Given the description of an element on the screen output the (x, y) to click on. 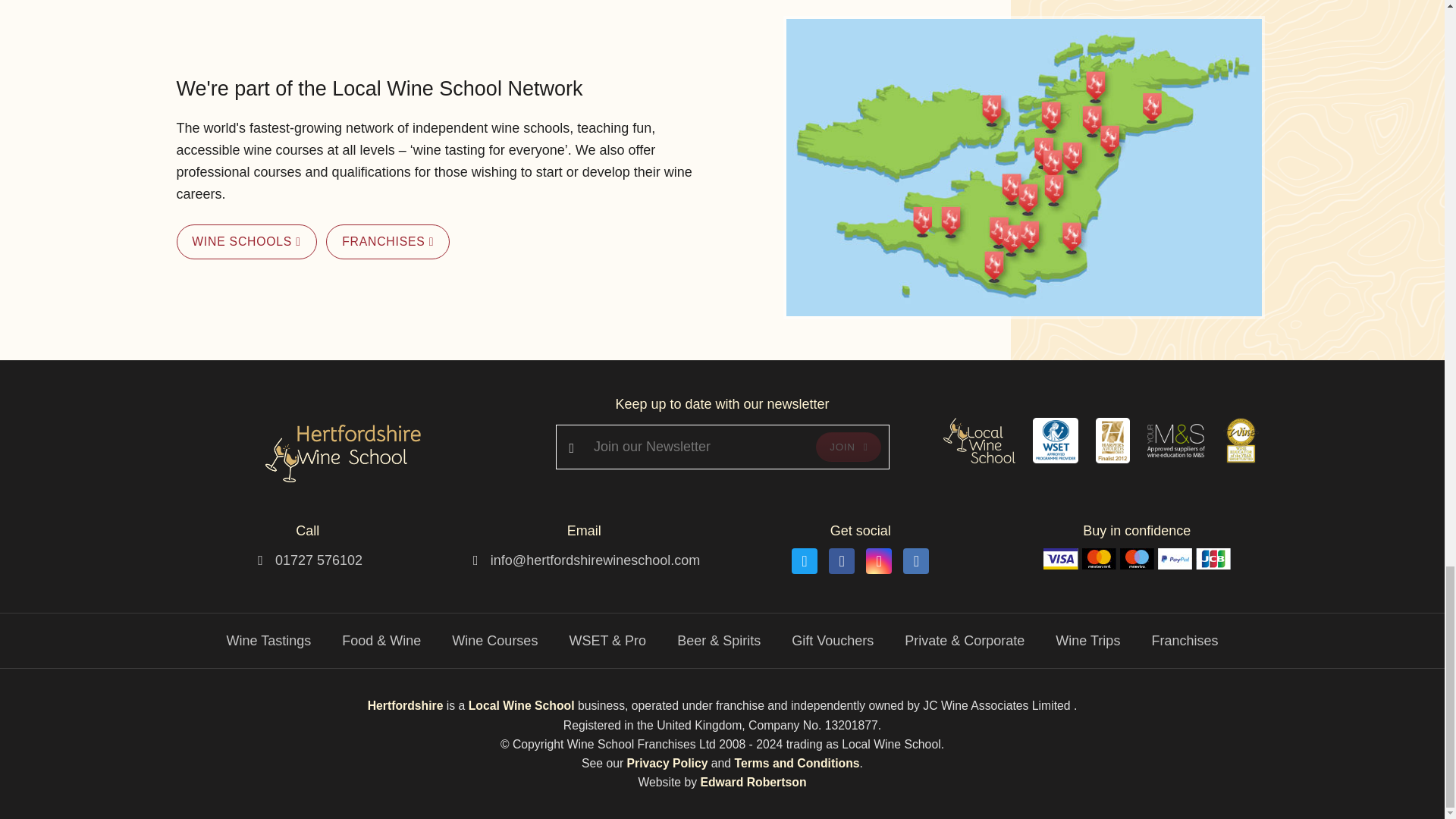
Visit our Twitter (804, 560)
Visit our LinkedIn (915, 560)
Visit our Instagram (878, 560)
Call us (318, 560)
Visit our Facebook (841, 560)
Send us an email (595, 560)
